Given the description of an element on the screen output the (x, y) to click on. 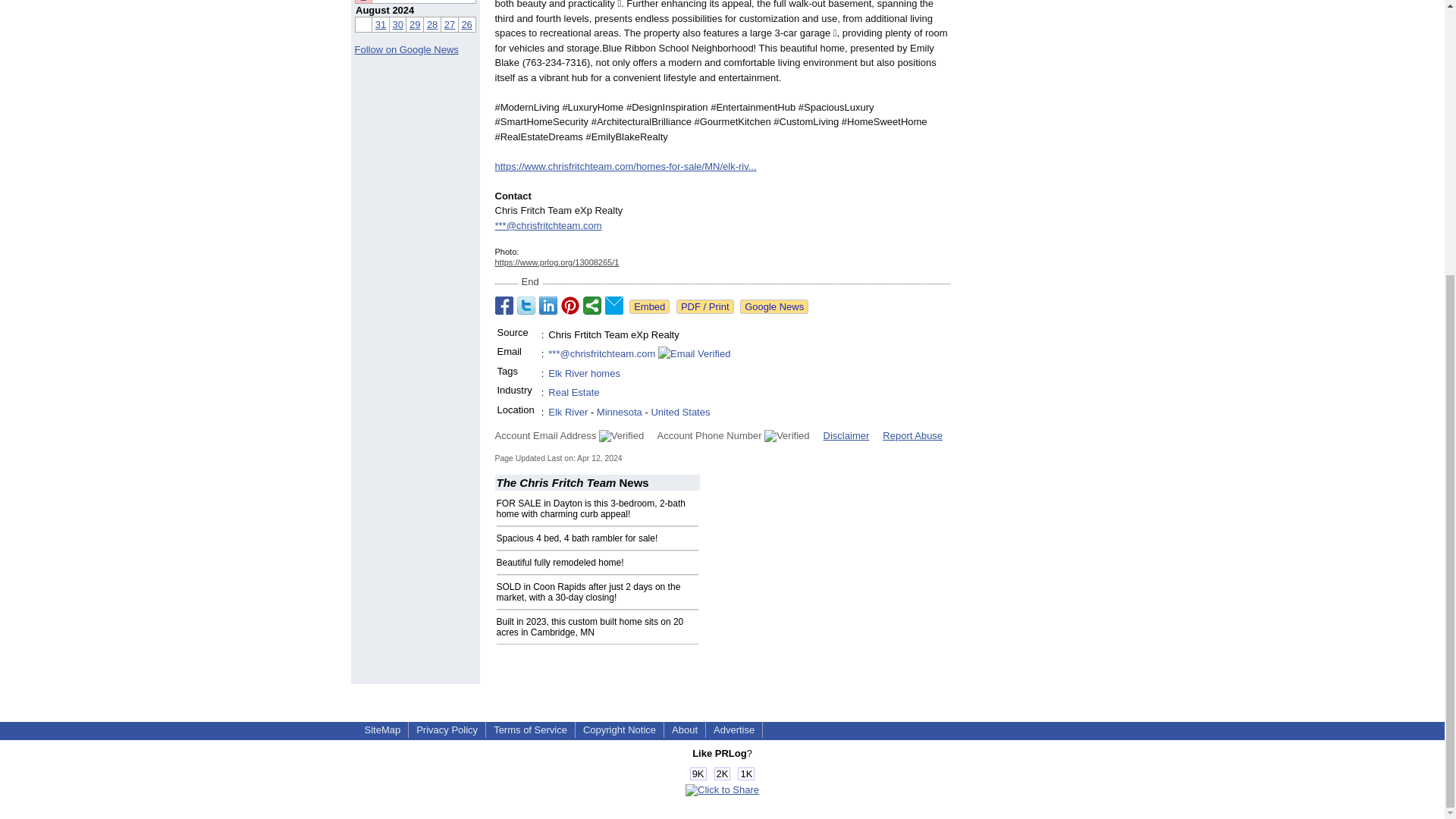
Share on LinkedIn (547, 305)
Share on Pinterest (569, 305)
Embed this press release in your website! (648, 306)
Email Verified (694, 353)
Embed (648, 306)
August 2024 (384, 9)
Share on Facebook (503, 305)
Follow on Google News (406, 49)
28 (432, 24)
Share on StumbleUpon, Digg, etc (590, 305)
